Given the description of an element on the screen output the (x, y) to click on. 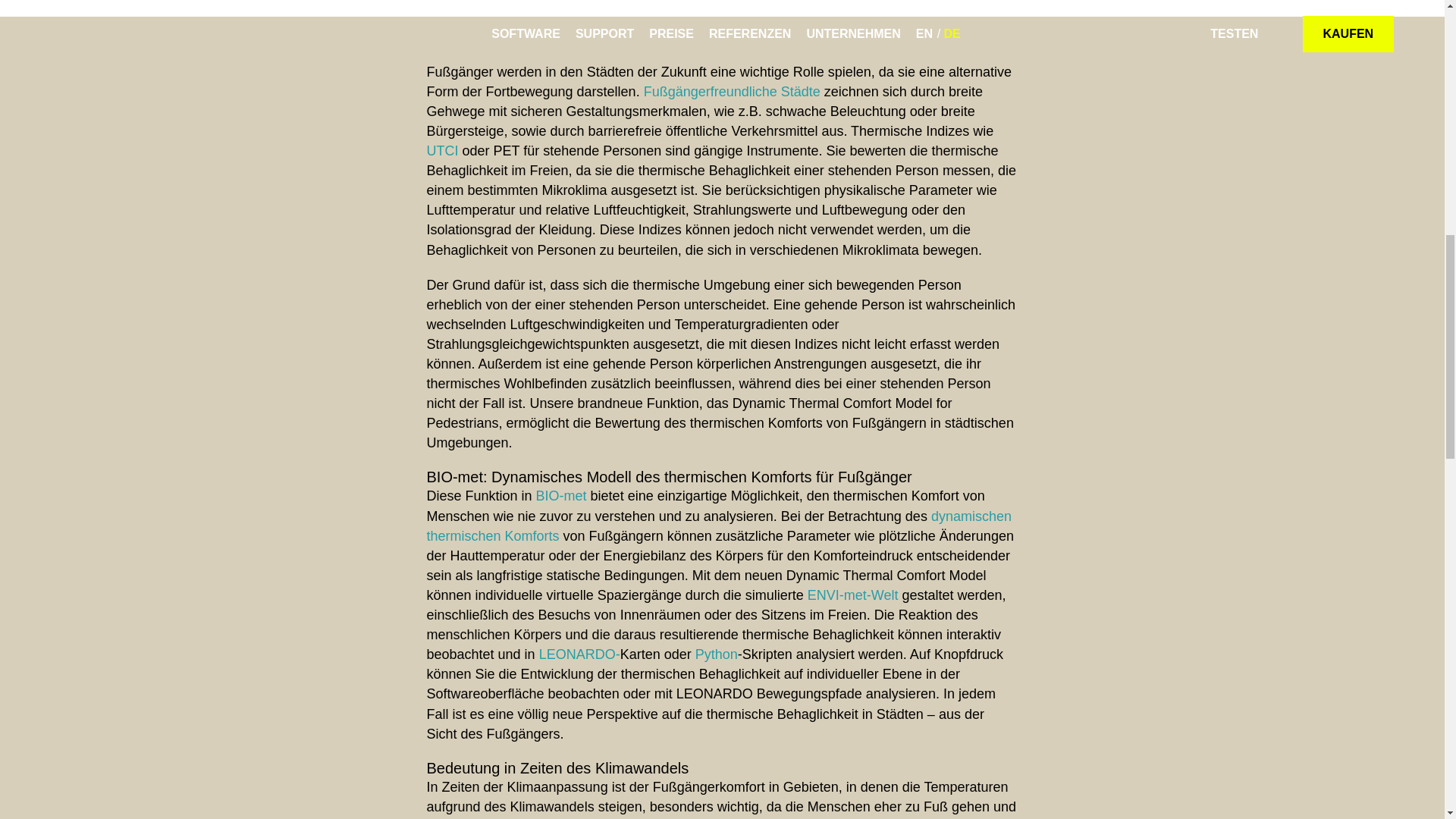
Python (716, 654)
UTCI (442, 150)
BIO-met (560, 495)
ENVI-met-Welt (853, 595)
dynamischen thermischen Komforts (718, 525)
LEONARDO- (579, 654)
